Given the description of an element on the screen output the (x, y) to click on. 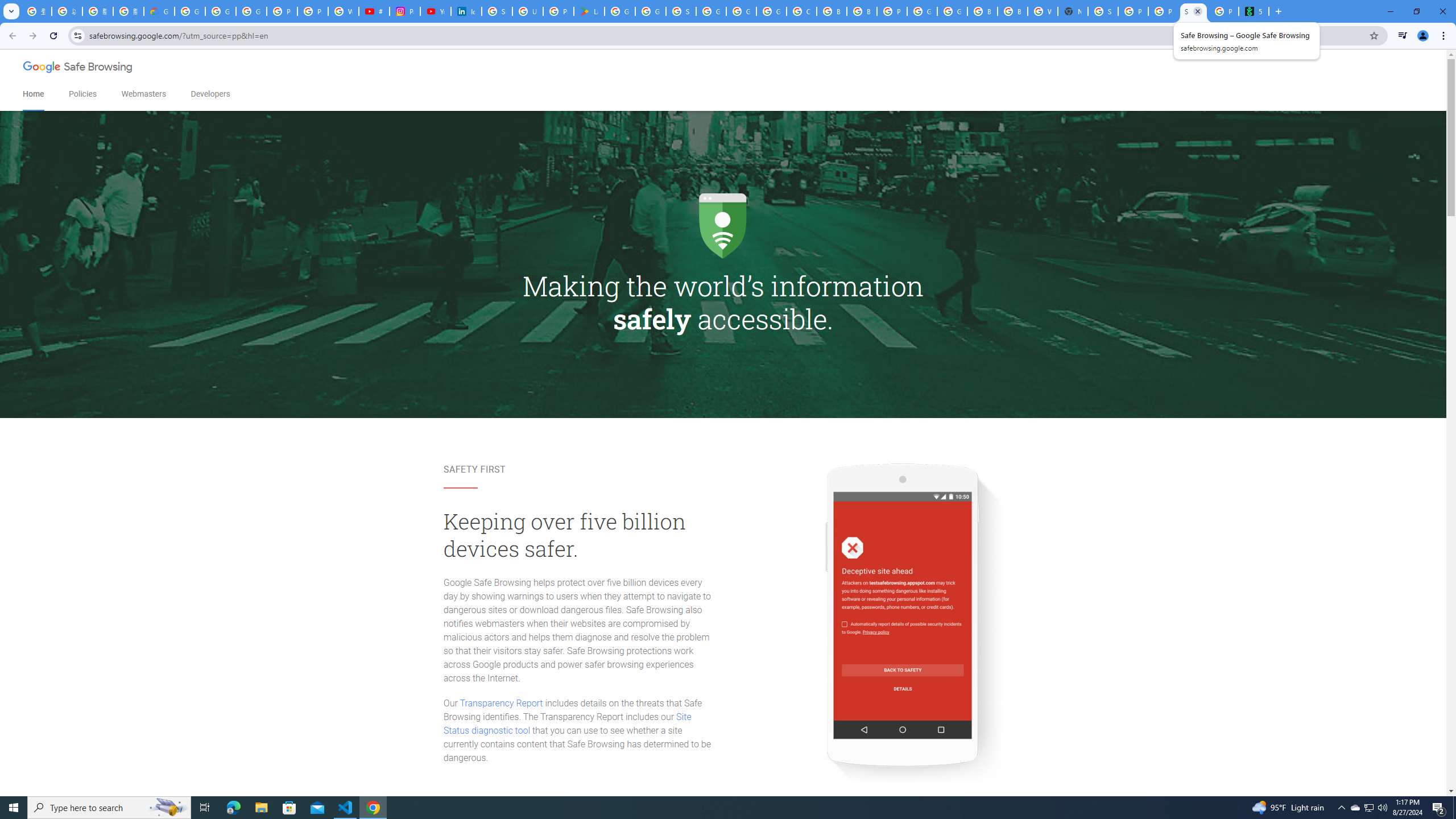
Webmasters (142, 94)
